Given the description of an element on the screen output the (x, y) to click on. 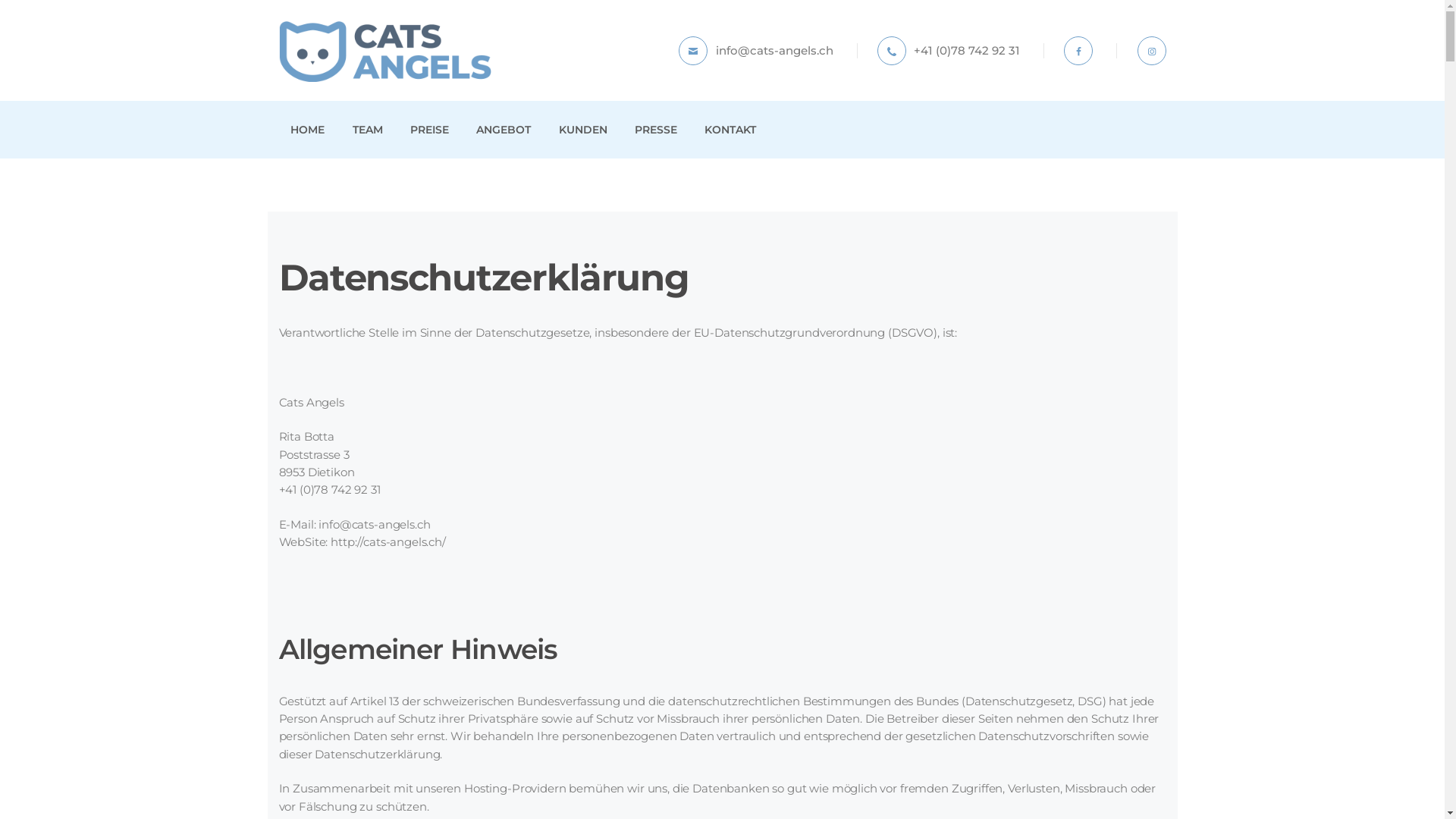
HOME Element type: text (307, 129)
KUNDEN Element type: text (582, 129)
KONTAKT Element type: text (730, 129)
PREISE Element type: text (429, 129)
info@cats-angels.ch Element type: text (755, 50)
PRESSE Element type: text (655, 129)
ANGEBOT Element type: text (503, 129)
TEAM Element type: text (367, 129)
